Given the description of an element on the screen output the (x, y) to click on. 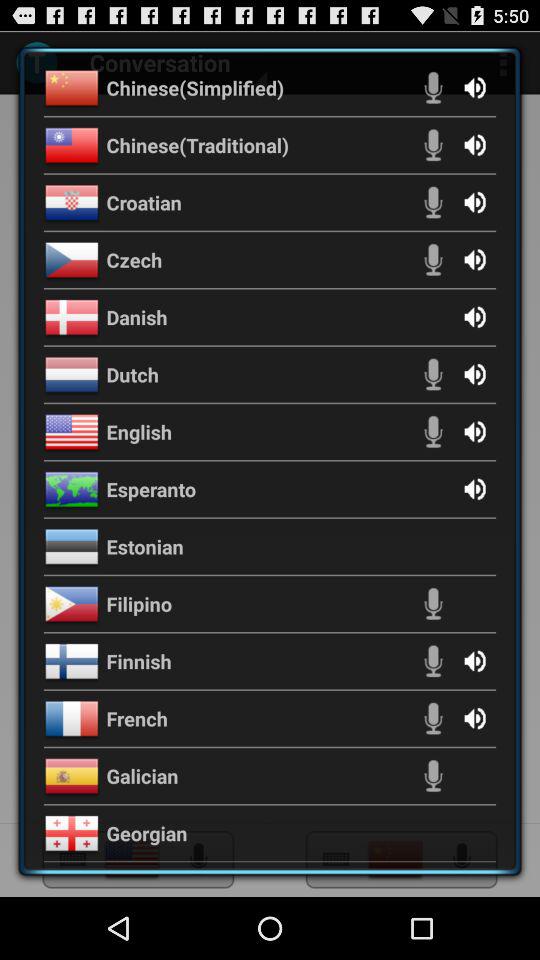
press the item below finnish item (137, 718)
